Given the description of an element on the screen output the (x, y) to click on. 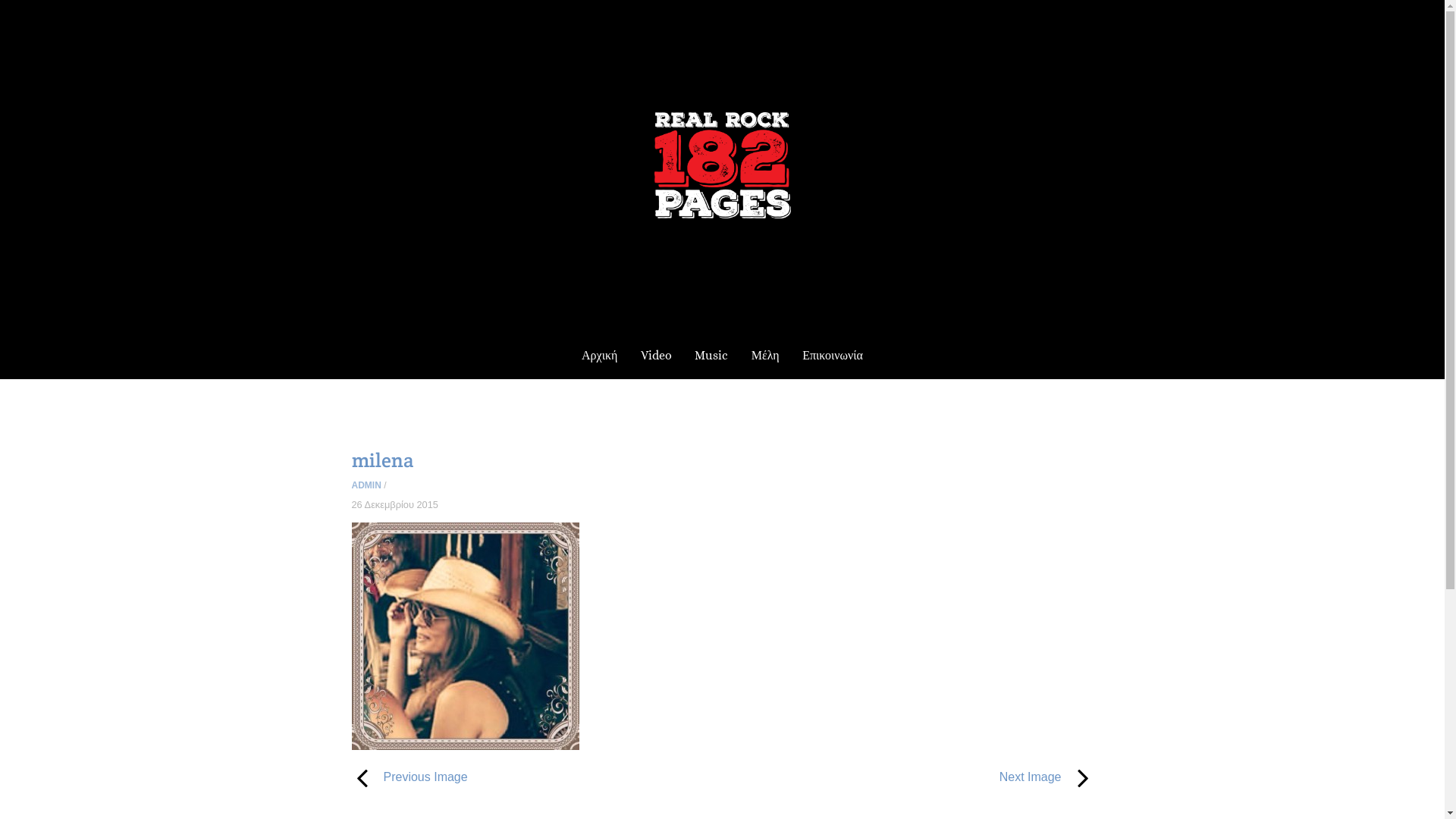
milena Element type: text (382, 460)
Music Element type: text (711, 355)
ADMIN Element type: text (366, 485)
Video Element type: text (655, 355)
182 Pages Element type: hover (721, 165)
182 Pages Element type: hover (721, 200)
